Given the description of an element on the screen output the (x, y) to click on. 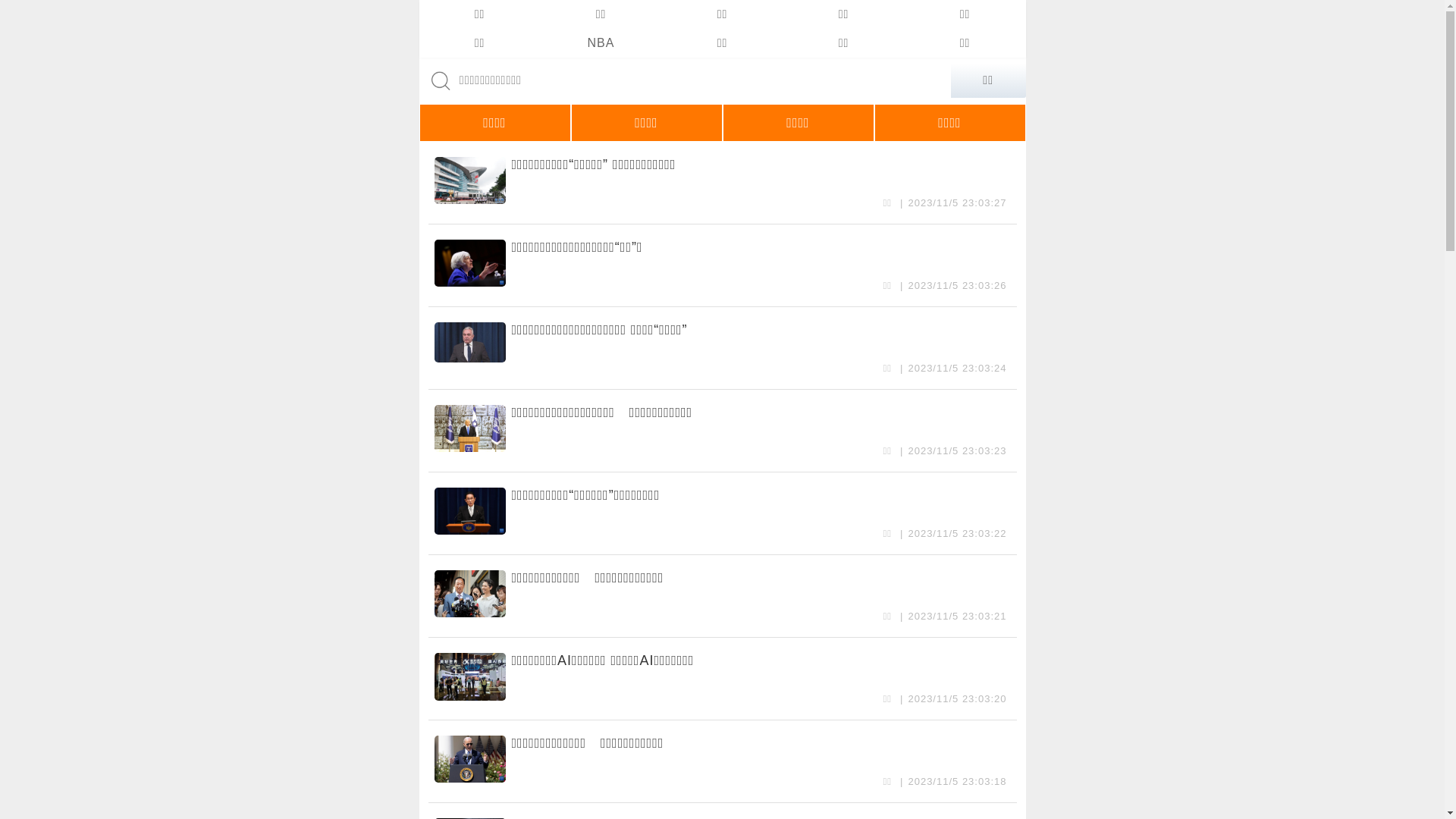
NBA Element type: text (600, 42)
